Given the description of an element on the screen output the (x, y) to click on. 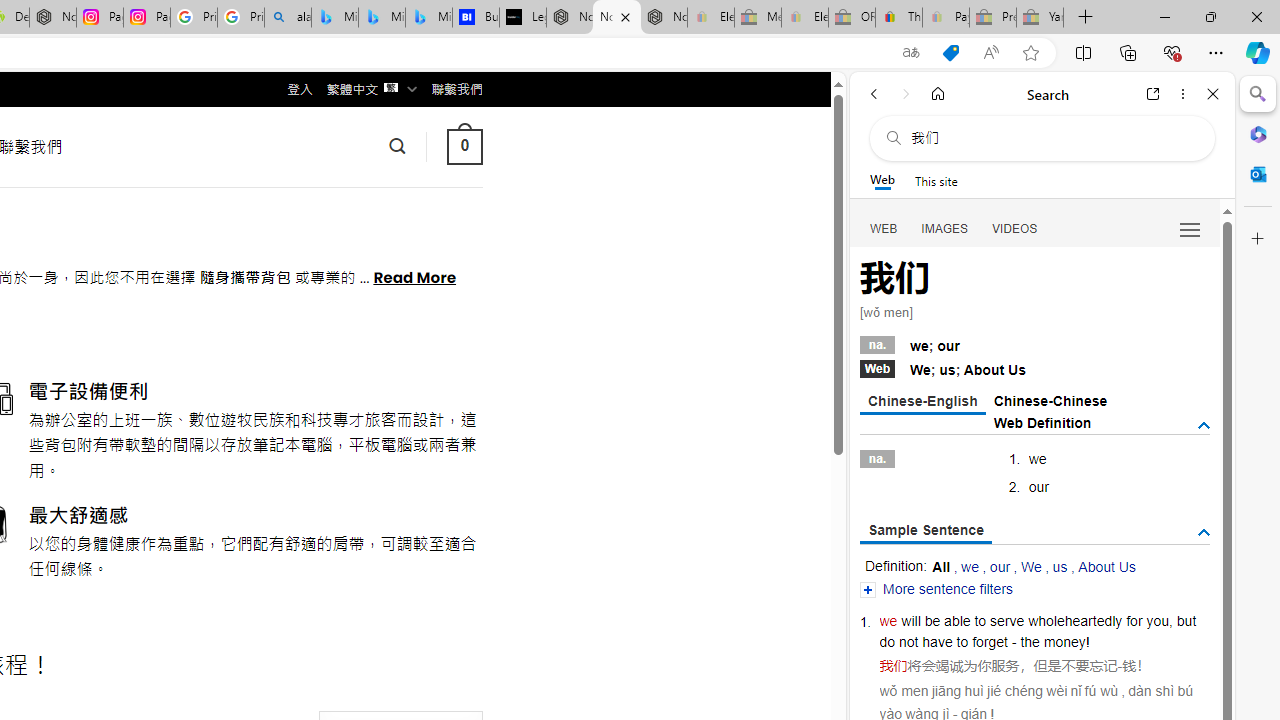
Show translate options (910, 53)
will (911, 620)
 0  (464, 146)
wholeheartedly (1074, 620)
We (1030, 566)
Read More (414, 276)
